Given the description of an element on the screen output the (x, y) to click on. 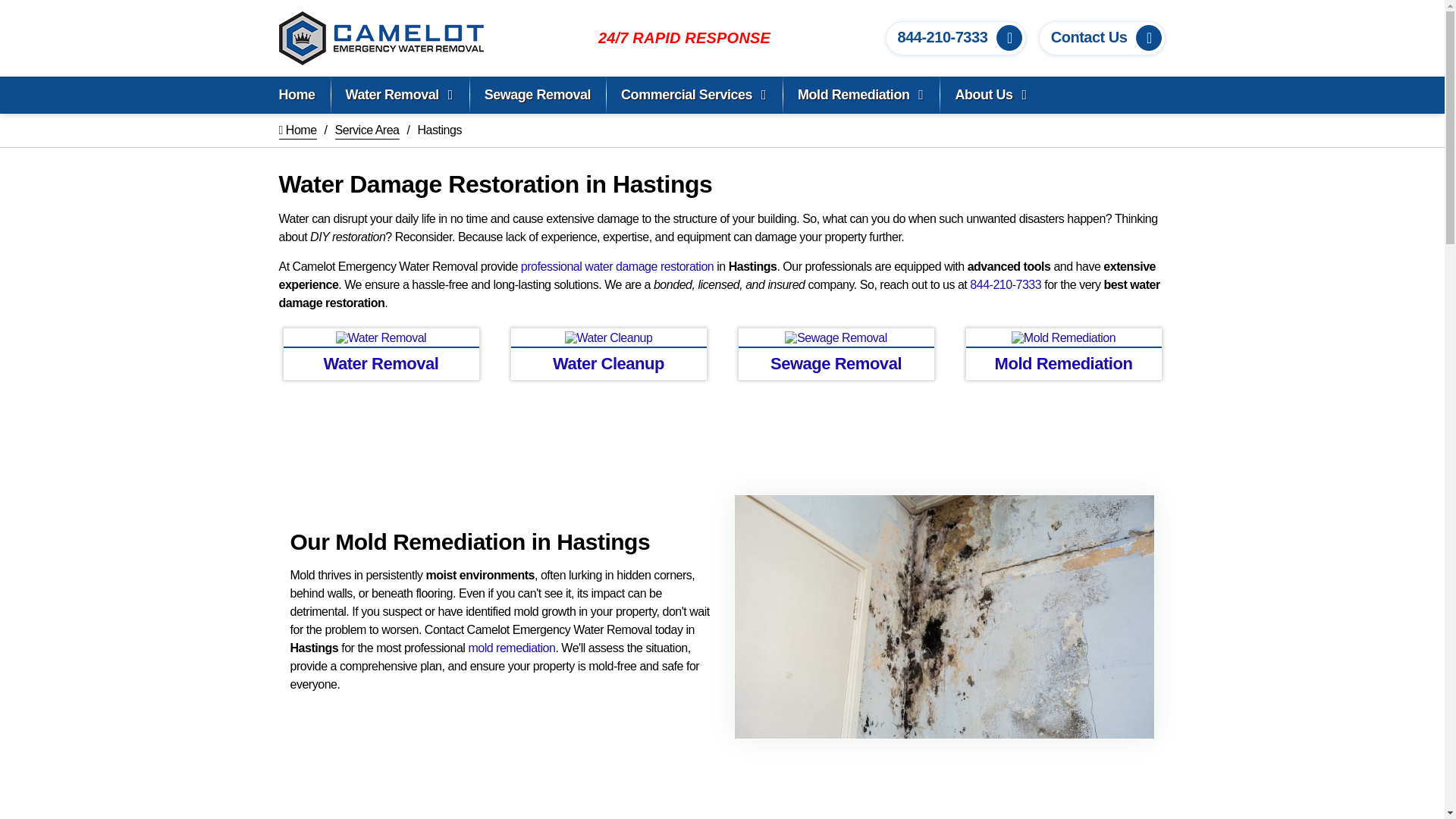
Water Removal (400, 94)
844-210-7333 (943, 36)
Home (297, 94)
Contact Us (1088, 36)
